Given the description of an element on the screen output the (x, y) to click on. 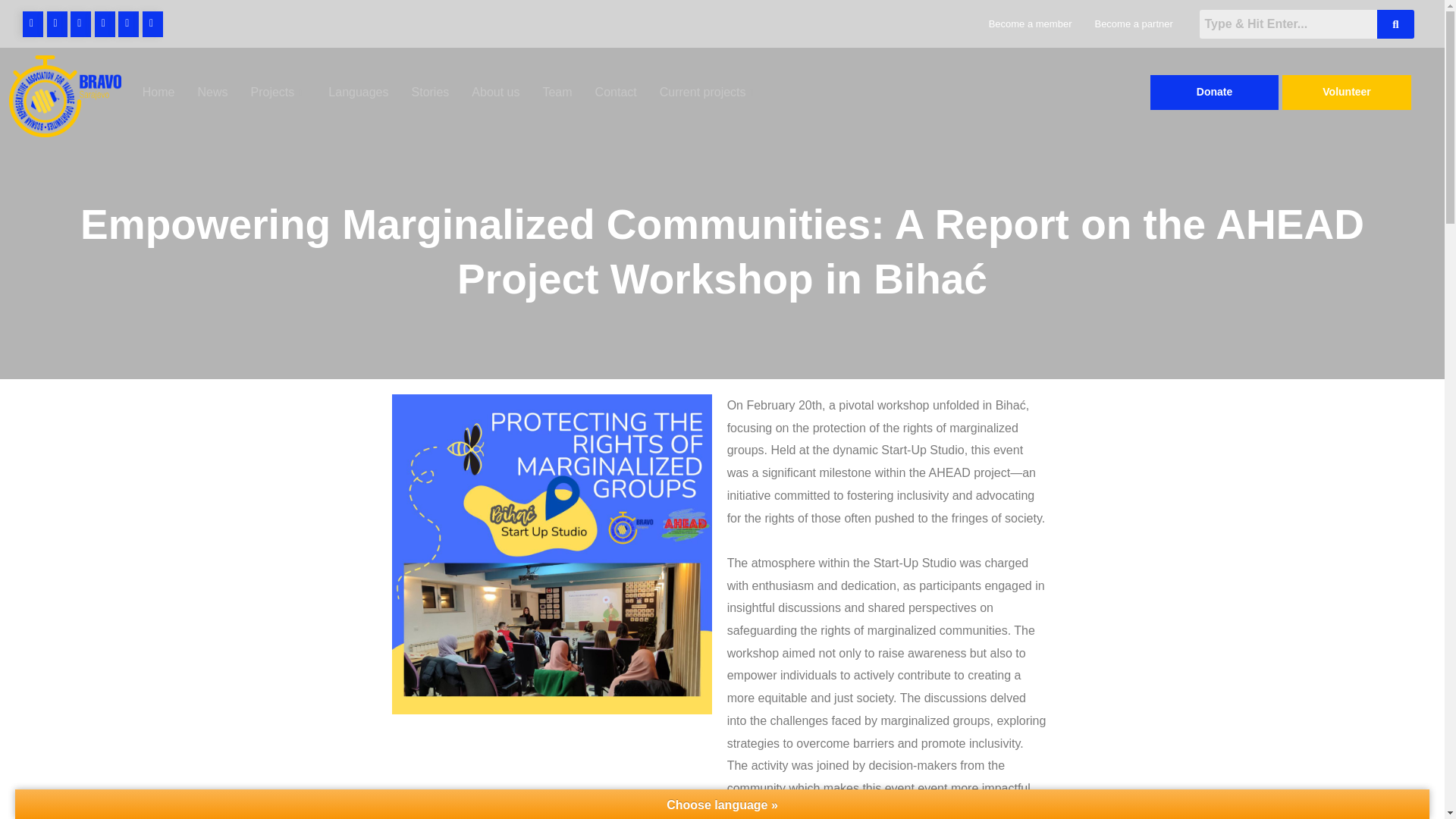
News (212, 92)
Donate (1214, 92)
Home (158, 92)
Volunteer (1346, 92)
Become a member (1029, 23)
Current projects (707, 92)
Team (557, 92)
Search (1288, 23)
Languages (357, 92)
Projects (278, 92)
